Given the description of an element on the screen output the (x, y) to click on. 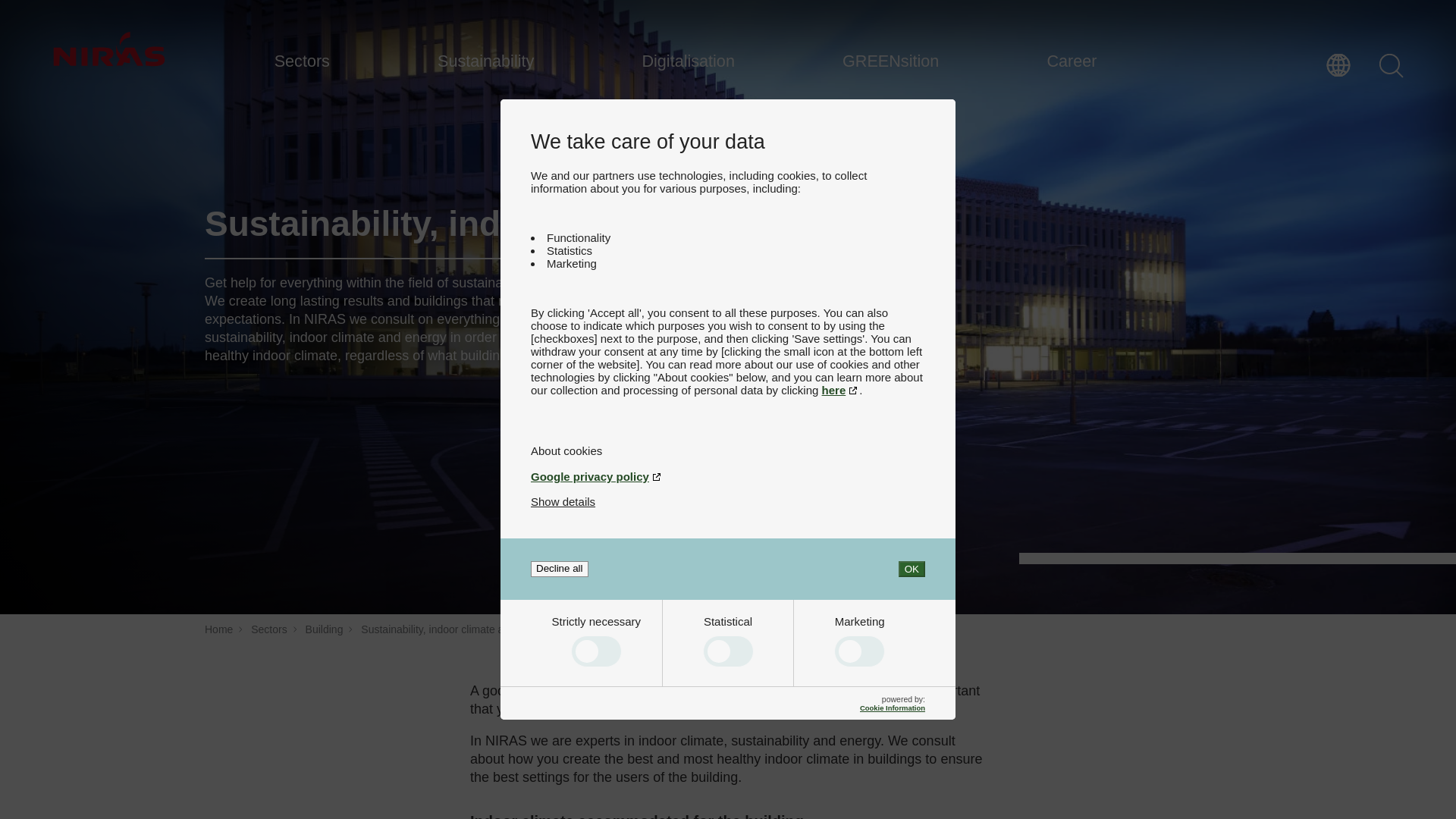
here (841, 390)
Decline all (559, 569)
Show details (563, 501)
Cookie Information (892, 707)
Google privacy policy (727, 476)
OK (911, 569)
About cookies (727, 450)
